Given the description of an element on the screen output the (x, y) to click on. 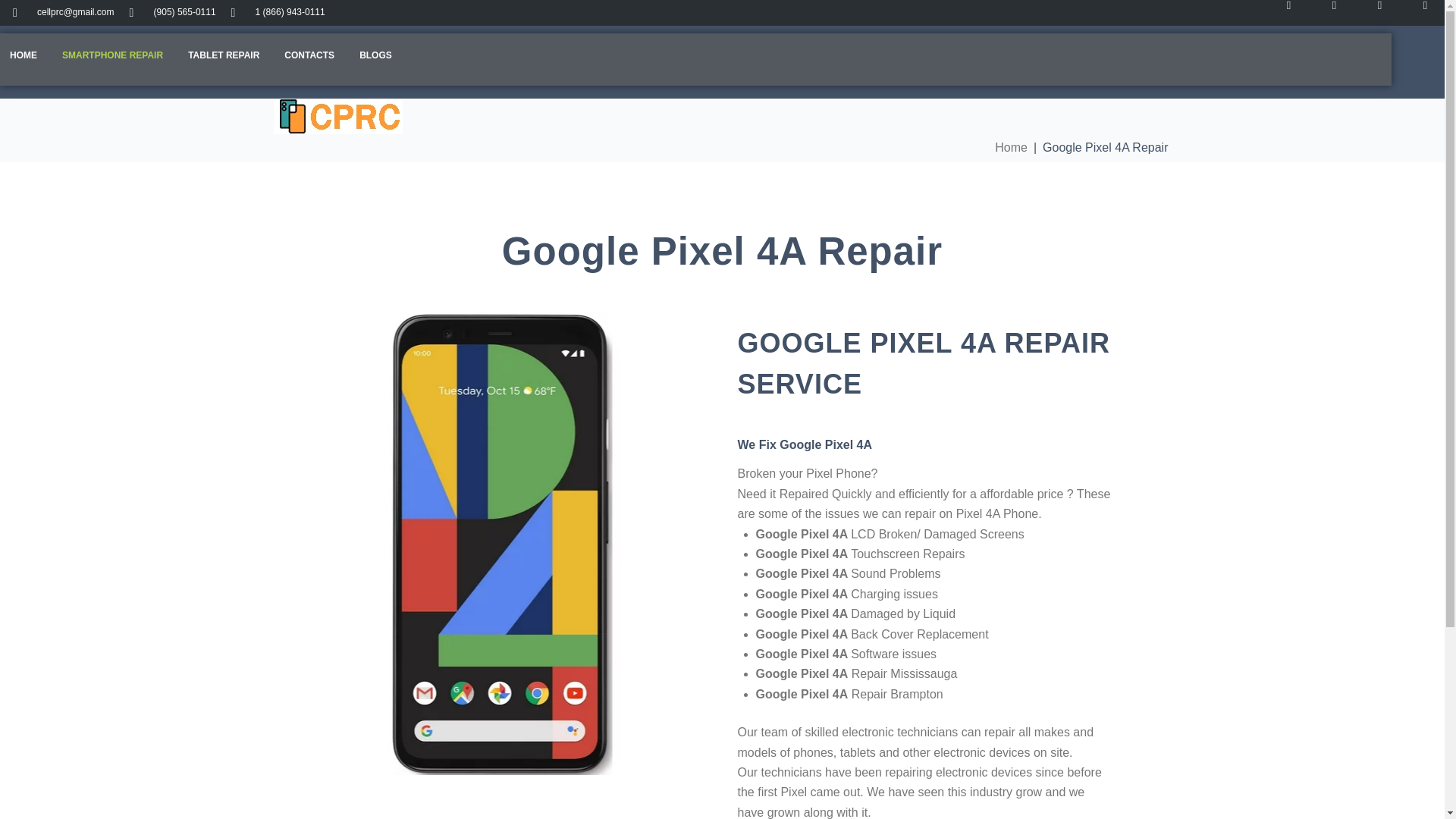
SMARTPHONE REPAIR (112, 59)
Home (1010, 148)
HOME (23, 59)
